Given the description of an element on the screen output the (x, y) to click on. 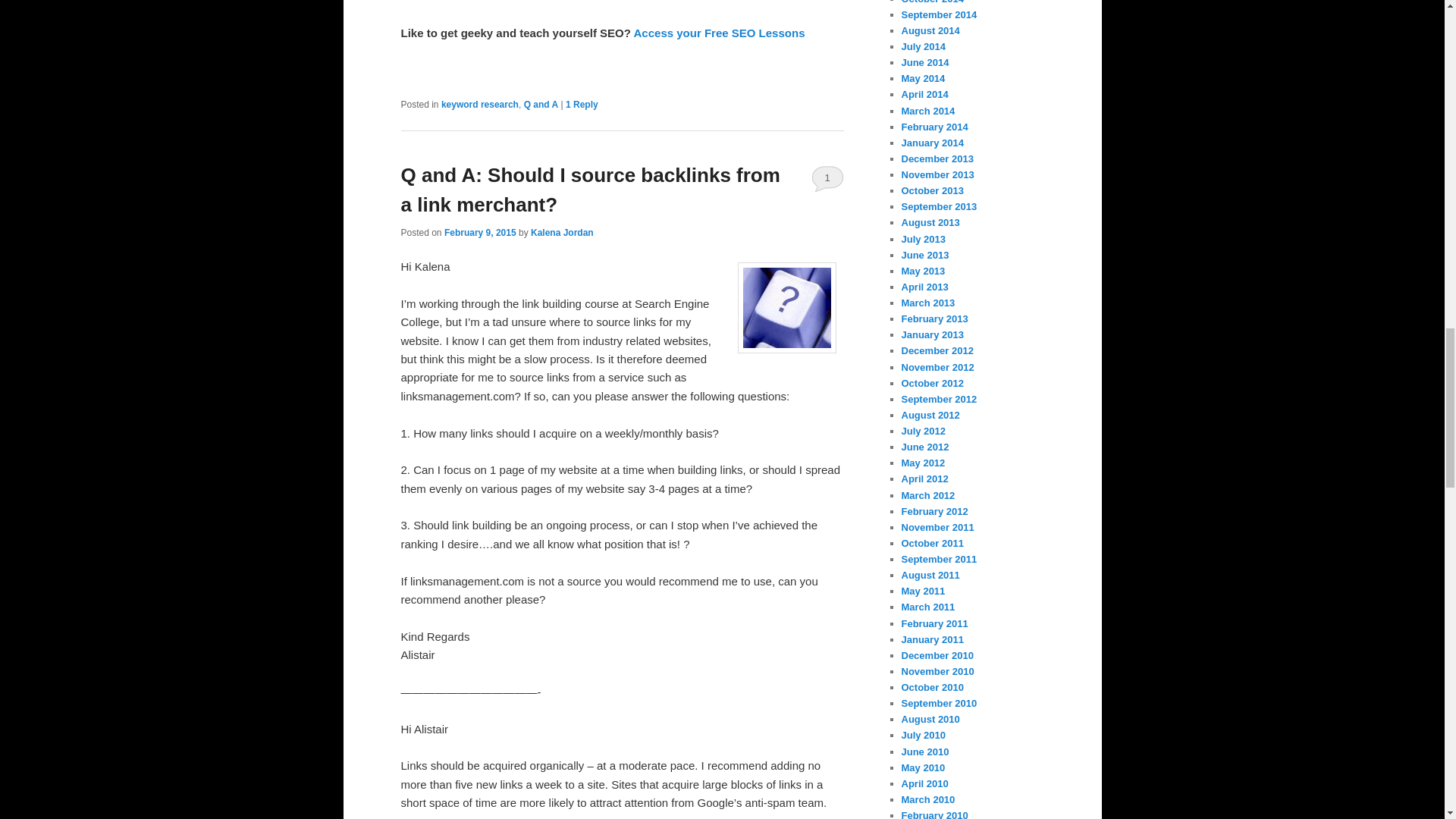
February 9, 2015 (480, 232)
Q and A: Should I source backlinks from a link merchant? (589, 189)
Kalena Jordan (562, 232)
1 Reply (582, 104)
View all posts by Kalena Jordan (562, 232)
Access your Free SEO Lessons (719, 32)
1 (827, 177)
10:55 am (480, 232)
Q and A (541, 104)
keyword research (479, 104)
